Given the description of an element on the screen output the (x, y) to click on. 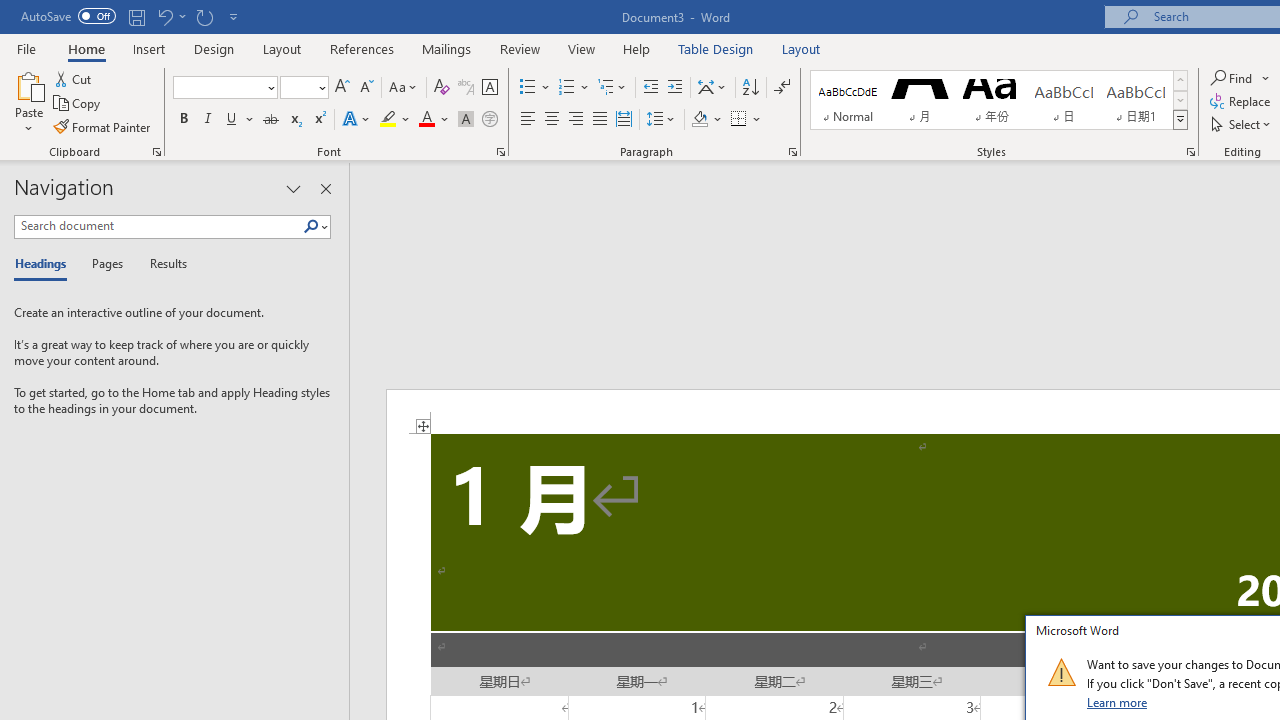
Text Highlight Color (395, 119)
Cut (73, 78)
Center (552, 119)
Shrink Font (365, 87)
Pages (105, 264)
Office Clipboard... (156, 151)
Align Right (575, 119)
Styles (1179, 120)
